Given the description of an element on the screen output the (x, y) to click on. 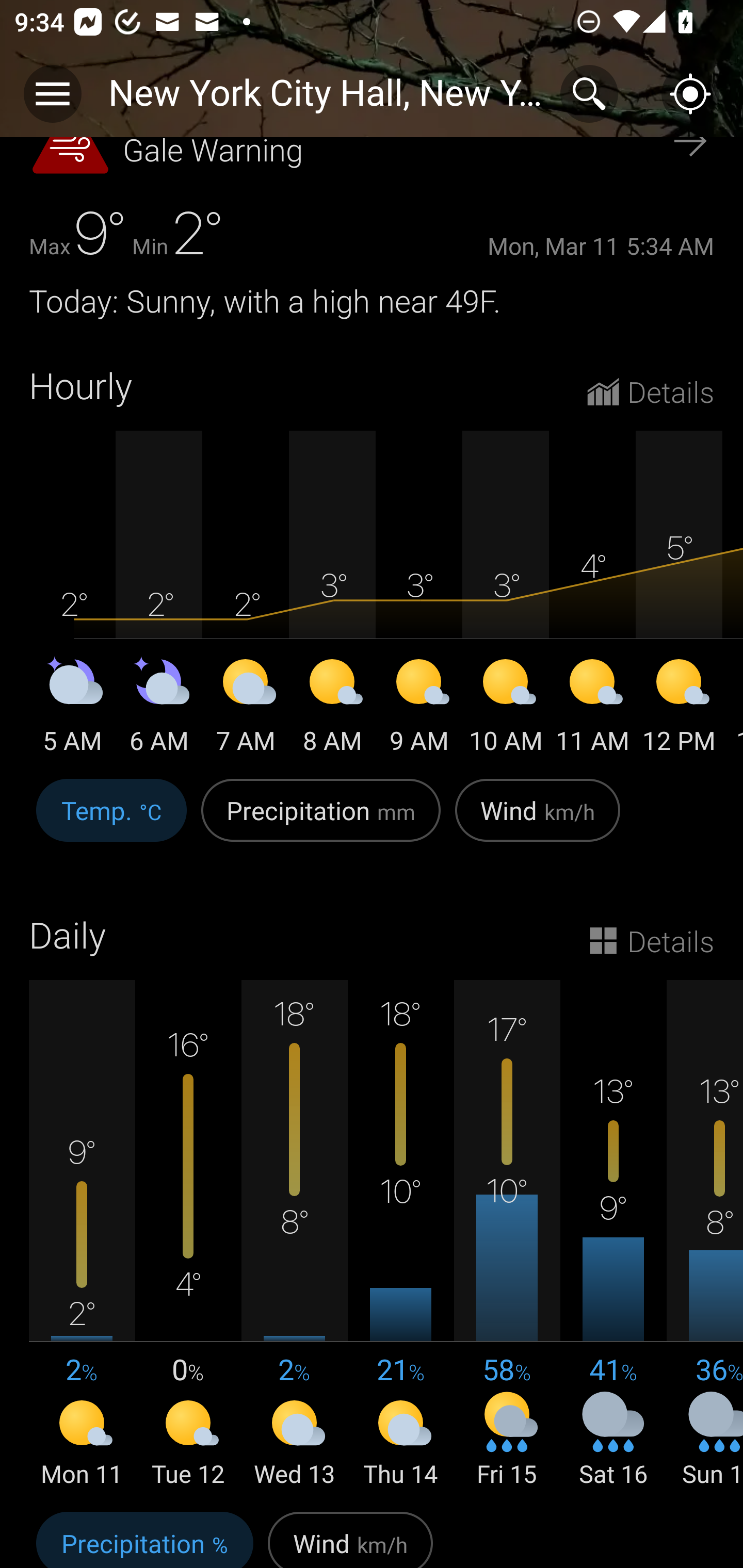
5 AM (71, 709)
6 AM (158, 709)
7 AM (245, 709)
8 AM (332, 709)
9 AM (418, 709)
10 AM (505, 709)
11 AM (592, 709)
12 PM (679, 709)
Temp. °C (110, 820)
Precipitation mm (320, 820)
Wind km/h (537, 820)
9° 2° 2 % Mon 11 (81, 1234)
16° 4° 0 % Tue 12 (188, 1234)
18° 8° 2 % Wed 13 (294, 1234)
18° 10° 21 % Thu 14 (400, 1234)
17° 10° 58 % Fri 15 (506, 1234)
13° 9° 41 % Sat 16 (613, 1234)
13° 8° 36 % Sun 17 (704, 1234)
Precipitation % (144, 1536)
Wind km/h (349, 1536)
